Given the description of an element on the screen output the (x, y) to click on. 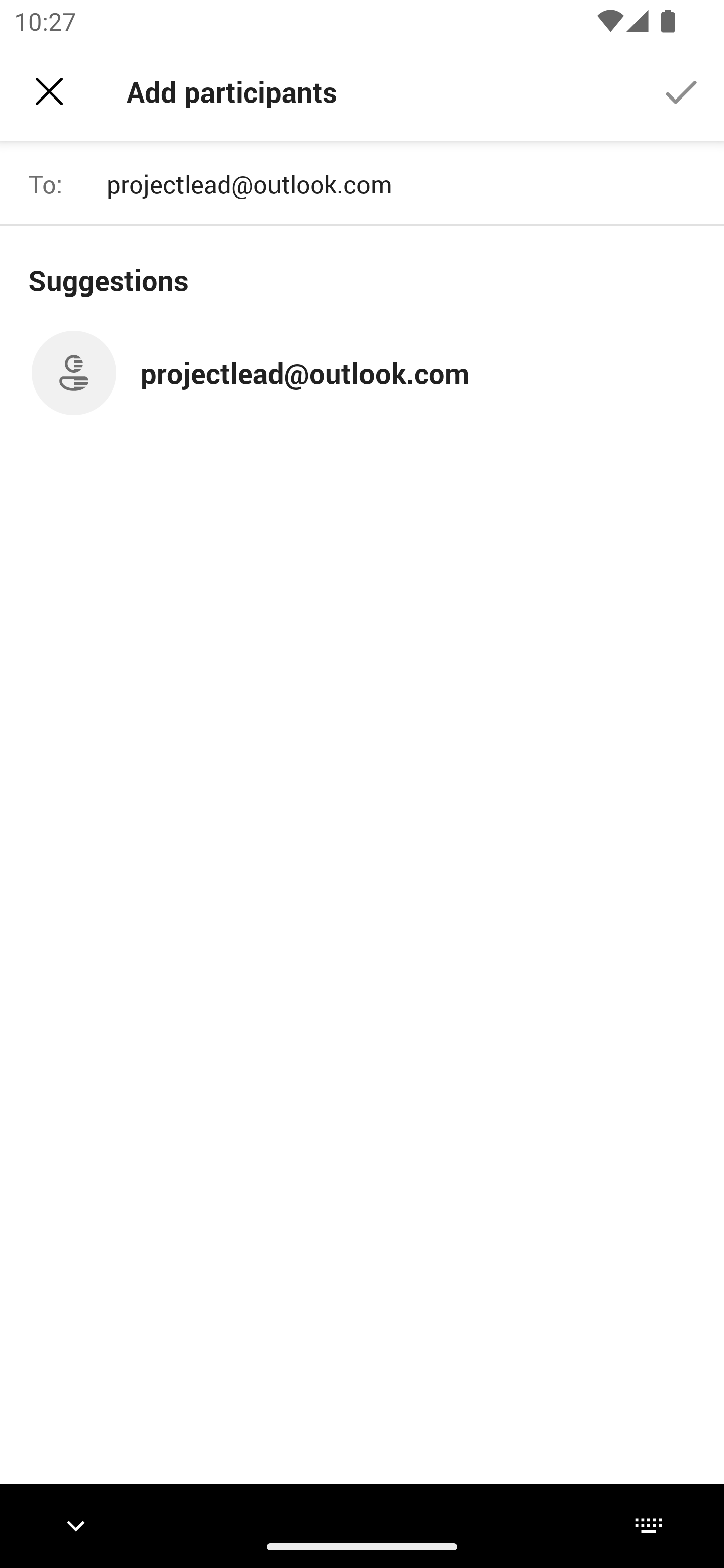
Back (49, 91)
Submit (681, 90)
Add users Type a name or email (407, 184)
